Given the description of an element on the screen output the (x, y) to click on. 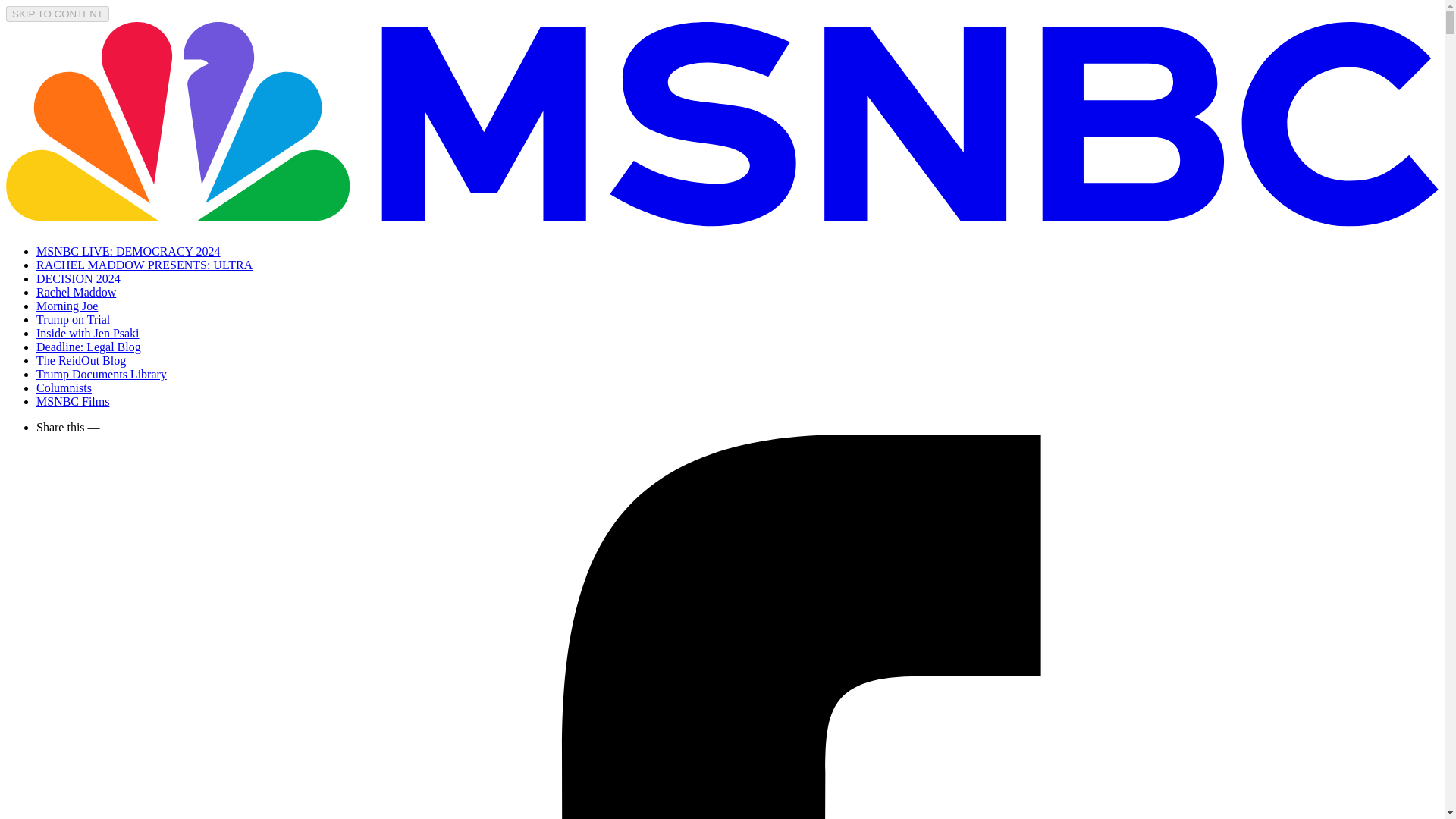
The ReidOut Blog (80, 359)
RACHEL MADDOW PRESENTS: ULTRA (143, 264)
Trump on Trial (73, 318)
Morning Joe (66, 305)
Deadline: Legal Blog (88, 346)
Columnists (63, 387)
Trump Documents Library (101, 373)
Rachel Maddow (76, 291)
Inside with Jen Psaki (87, 332)
SKIP TO CONTENT (57, 13)
MSNBC LIVE: DEMOCRACY 2024 (128, 250)
DECISION 2024 (78, 278)
MSNBC Films (72, 400)
